Given the description of an element on the screen output the (x, y) to click on. 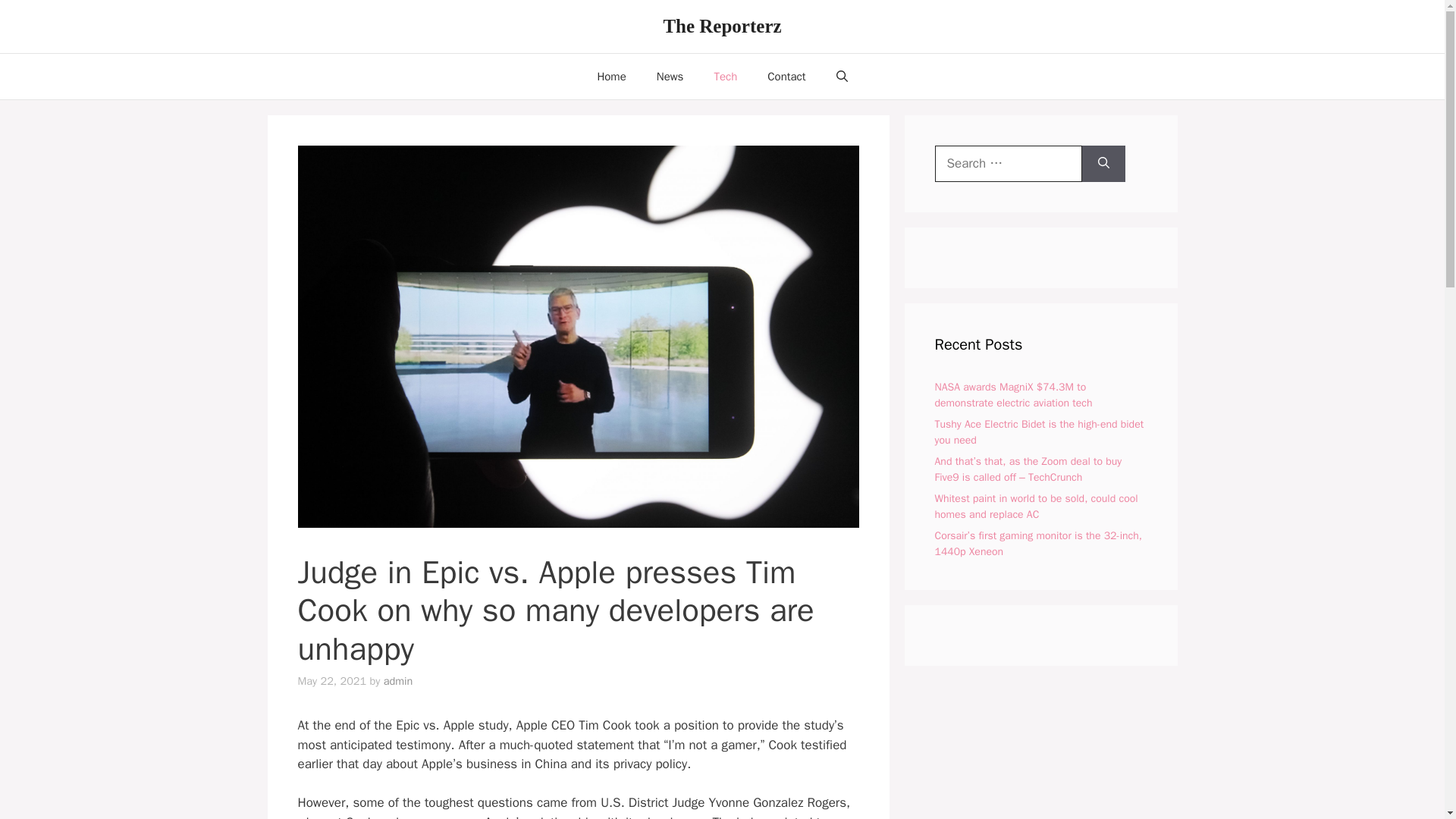
Home (610, 76)
The Reporterz (721, 25)
News (670, 76)
View all posts by admin (398, 680)
admin (398, 680)
Contact (786, 76)
Search for: (1007, 163)
Tushy Ace Electric Bidet is the high-end bidet you need (1038, 430)
Tech (725, 76)
